Given the description of an element on the screen output the (x, y) to click on. 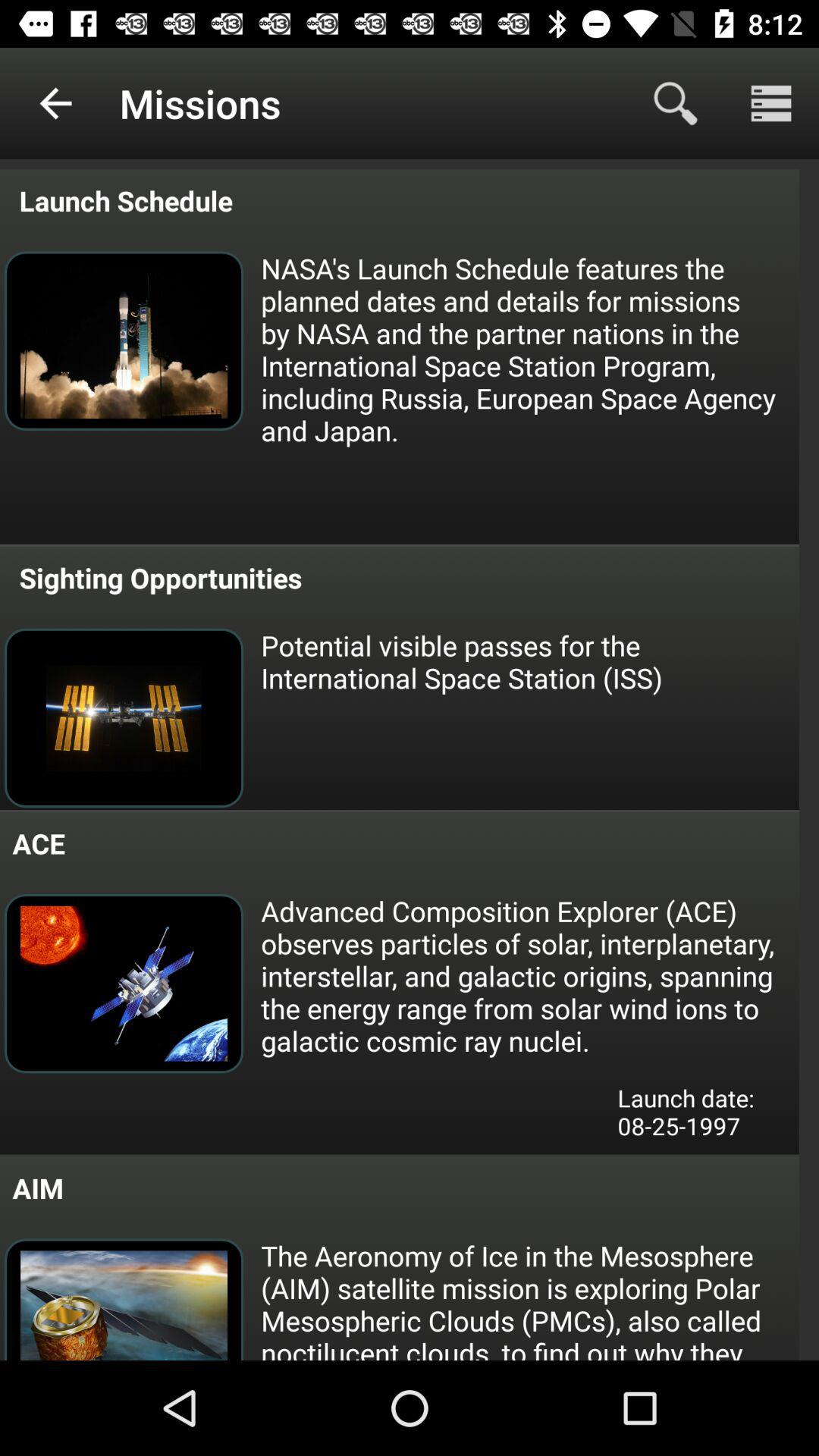
flip to the potential visible passes (528, 661)
